Given the description of an element on the screen output the (x, y) to click on. 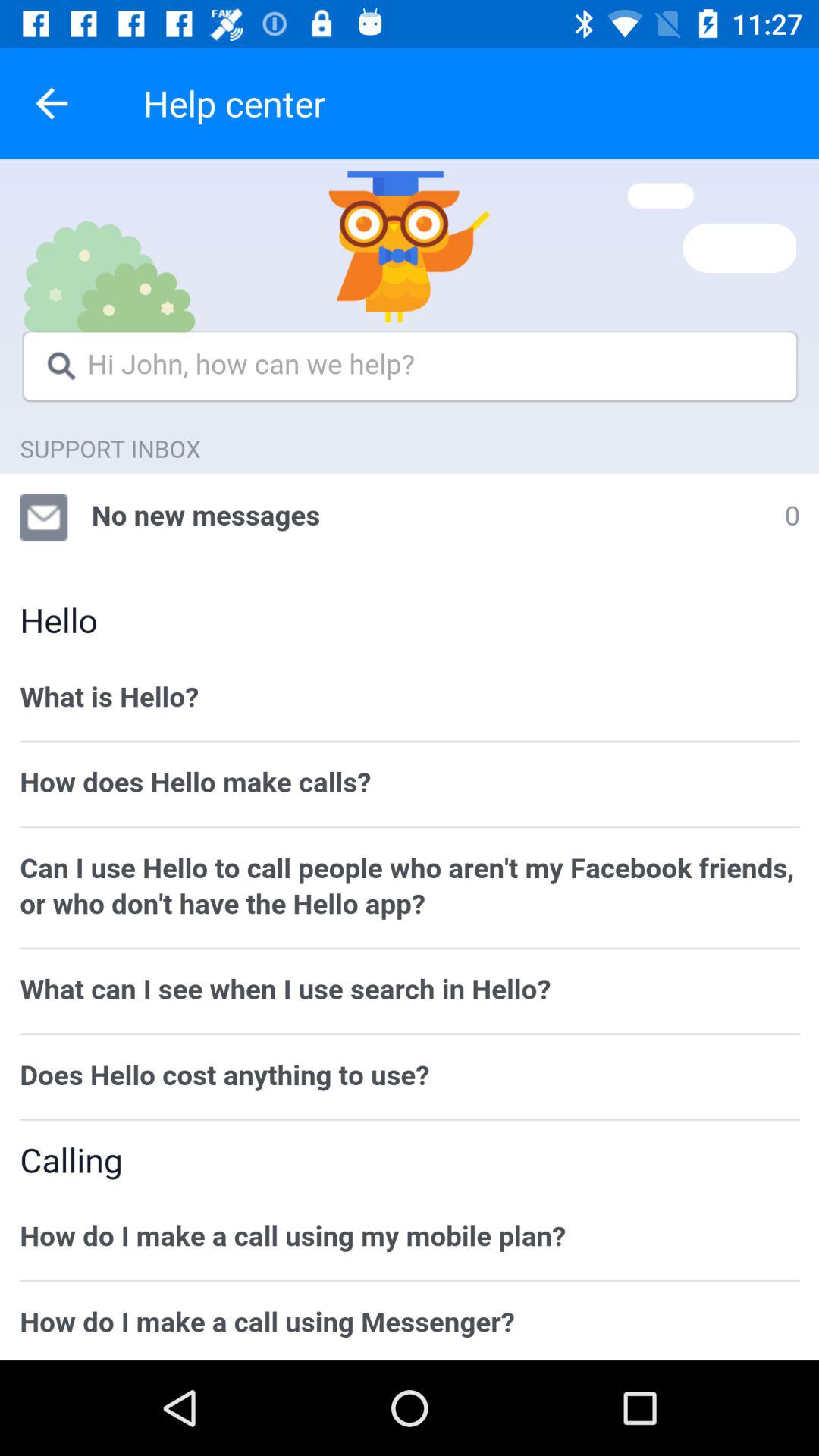
go to the previous page (51, 103)
